Given the description of an element on the screen output the (x, y) to click on. 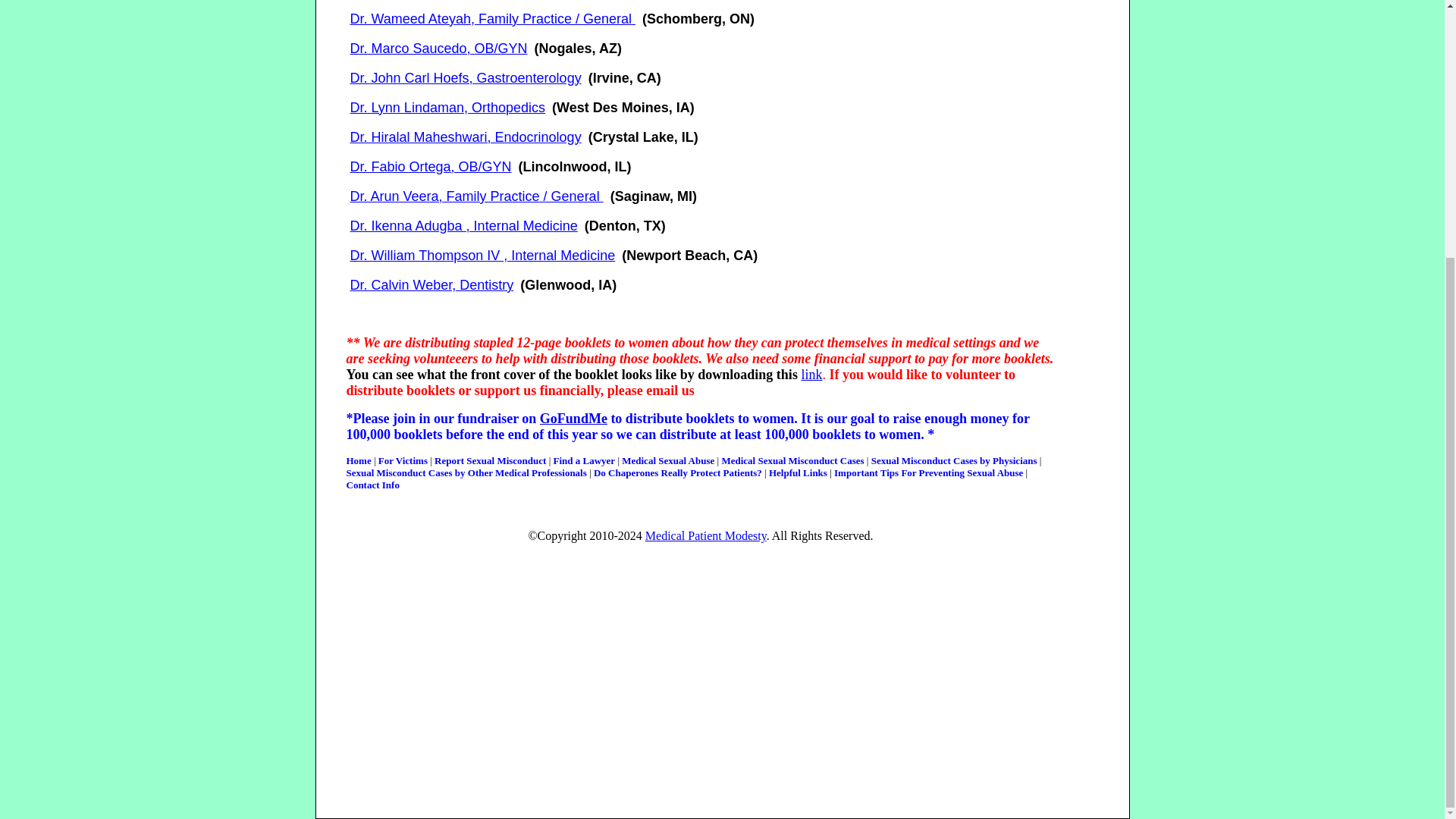
Dr. Hiralal Maheshwari, Endocrinology (465, 137)
Dr. John Carl Hoefs, Gastroenterology (465, 78)
Dr. Lynn Lindaman, Orthopedics (447, 107)
